Given the description of an element on the screen output the (x, y) to click on. 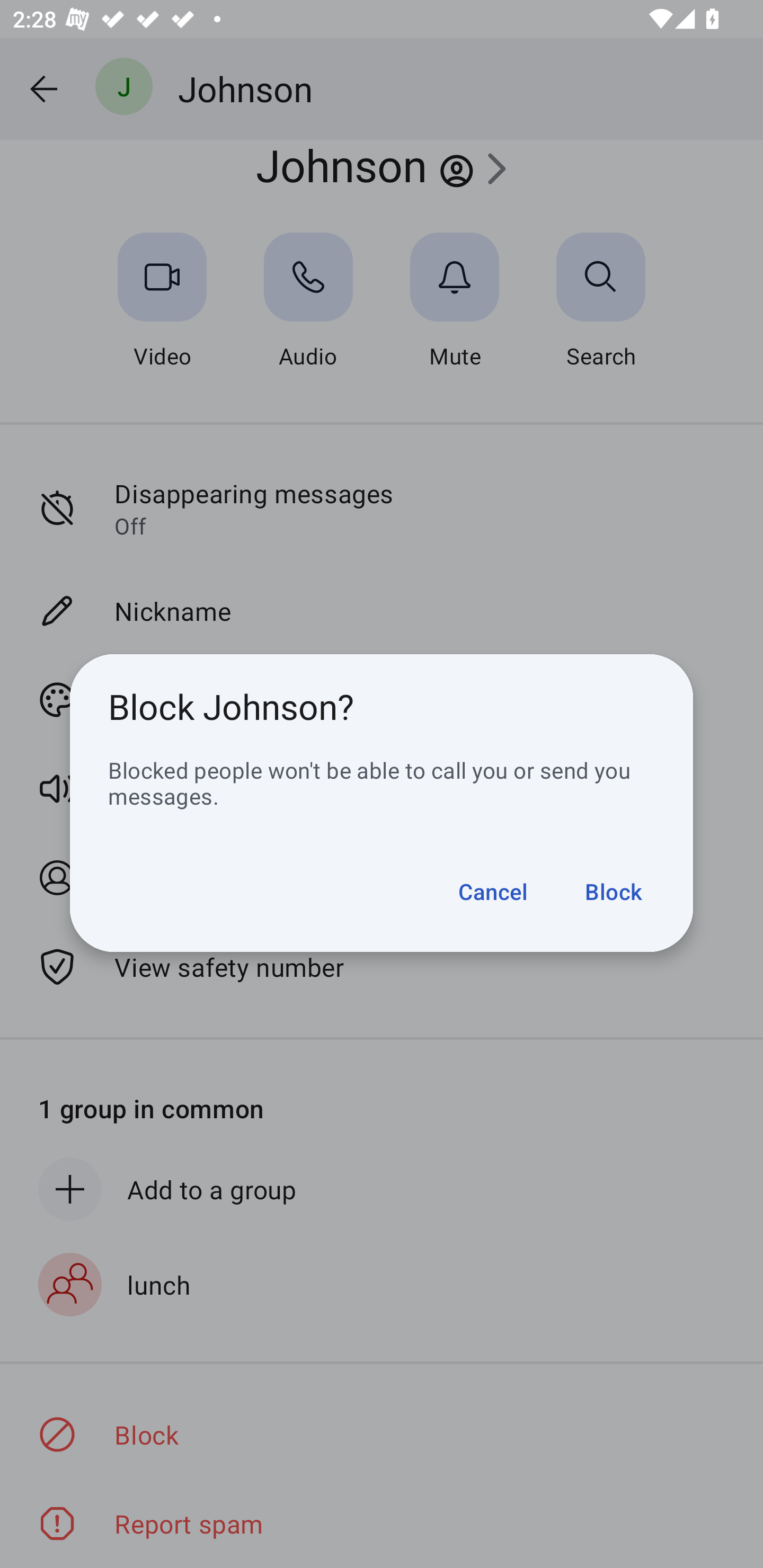
Block (603, 890)
